Given the description of an element on the screen output the (x, y) to click on. 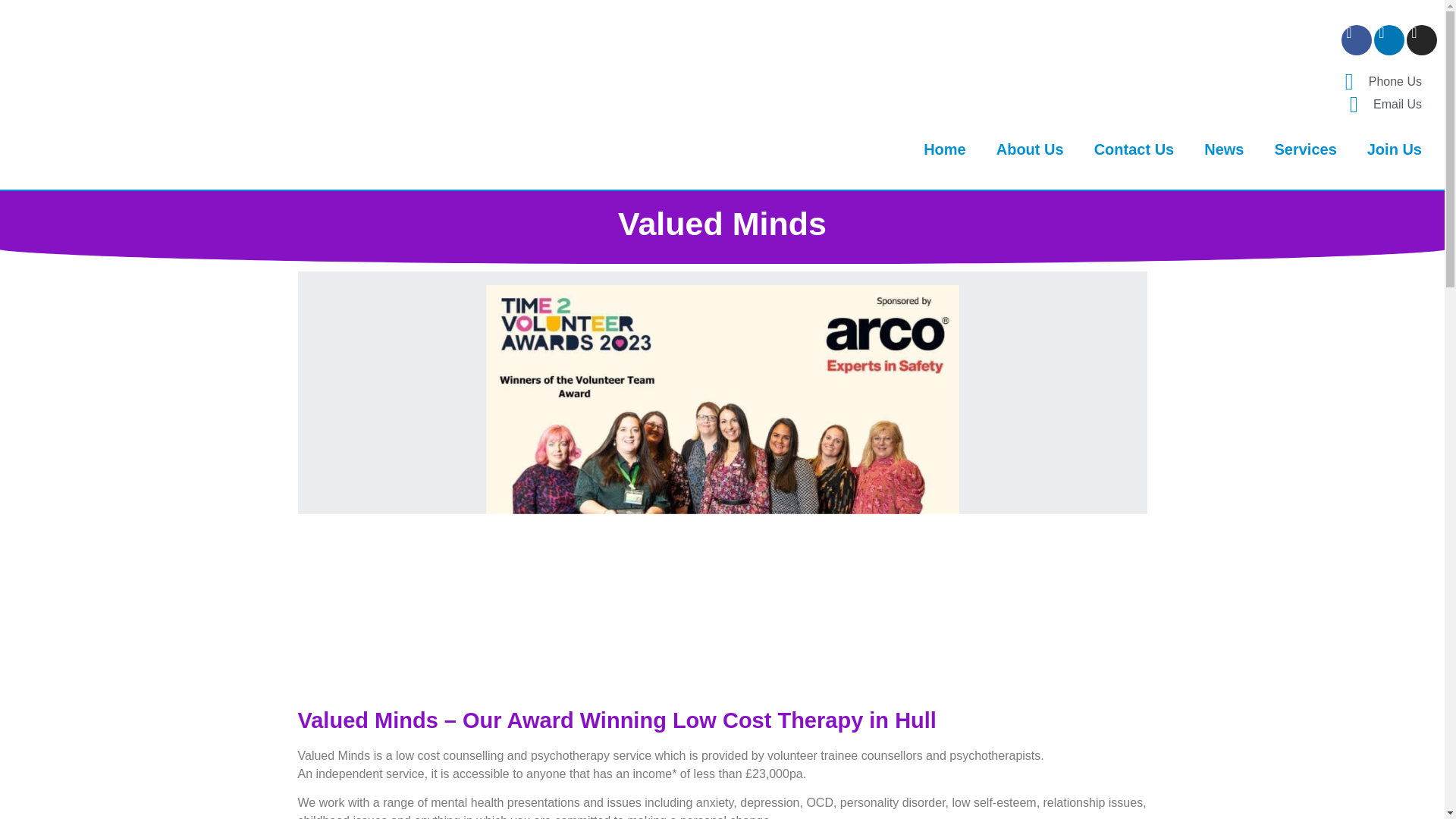
Contact Us (1133, 149)
Phone Us (931, 81)
Services (1305, 149)
About Us (1029, 149)
Join Us (1394, 149)
Home (944, 149)
Email Us (931, 104)
News (1224, 149)
